Given the description of an element on the screen output the (x, y) to click on. 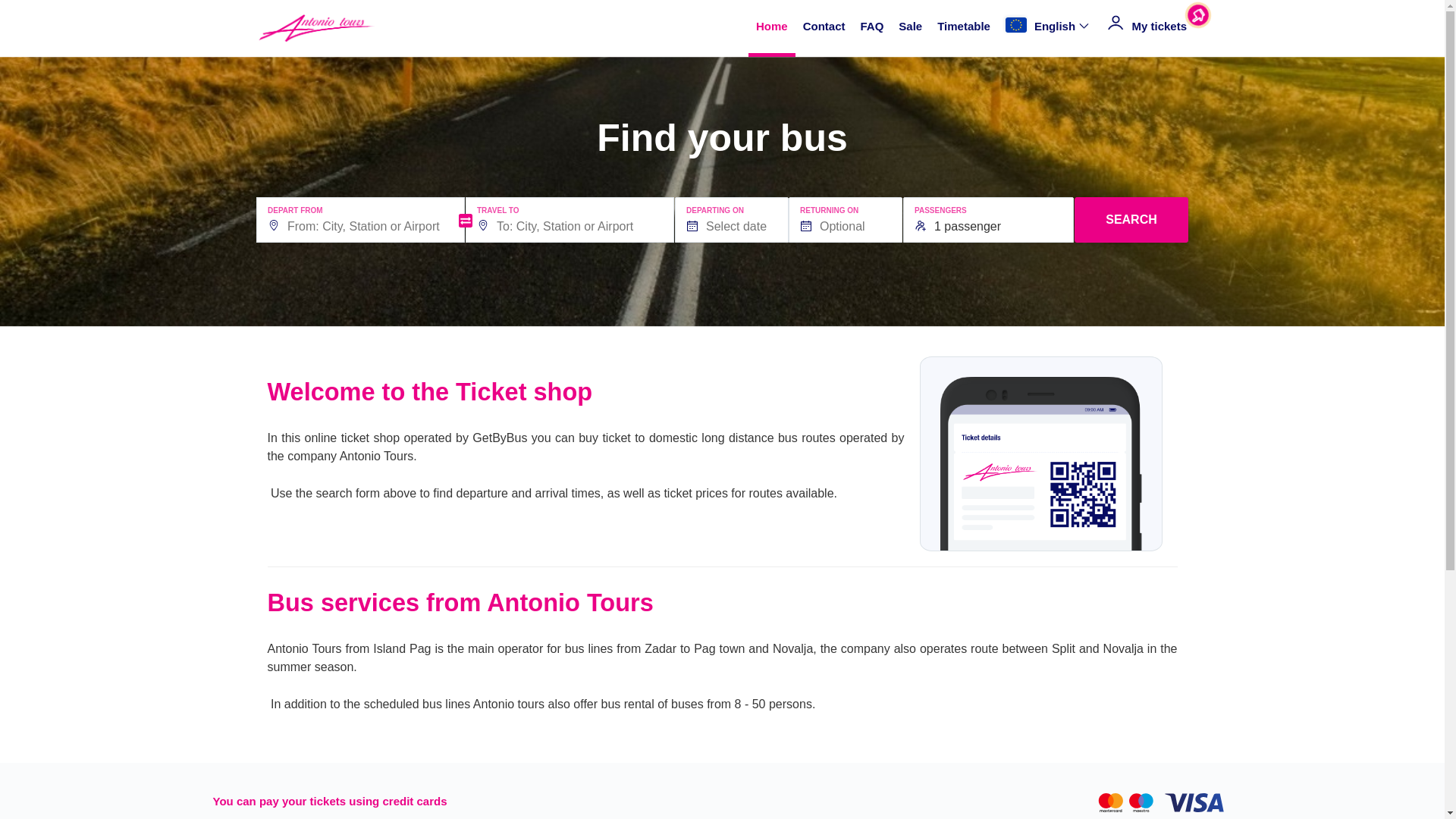
SEARCH (1131, 219)
1 passenger (988, 219)
FAQ (871, 26)
Sale (909, 26)
Contact (824, 26)
English (1048, 26)
Home (771, 26)
Timetable (963, 26)
 My tickets (1146, 26)
